Given the description of an element on the screen output the (x, y) to click on. 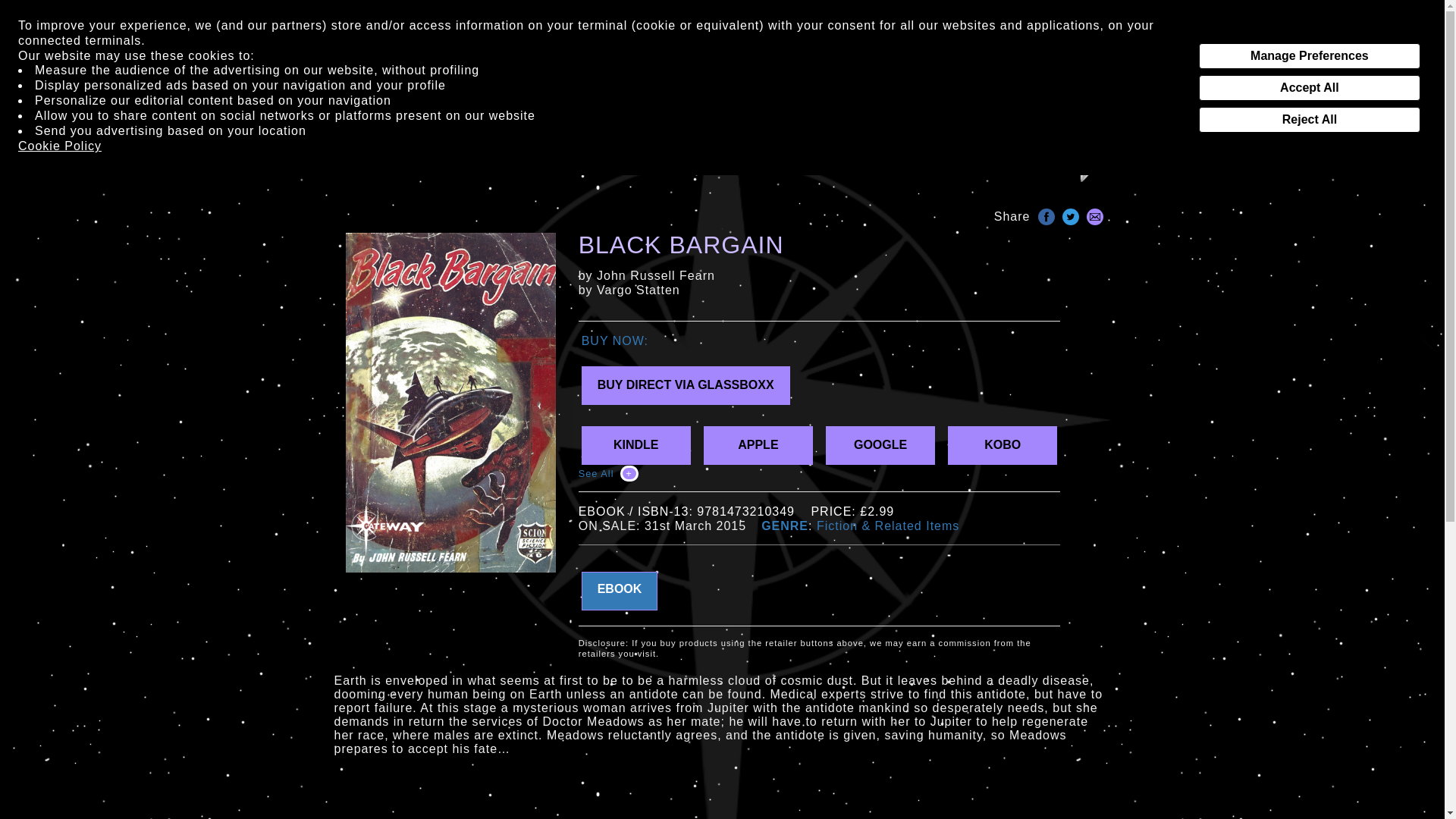
See All (608, 473)
KINDLE (635, 445)
SERIES (630, 156)
Reject All (1309, 119)
BOOKS (461, 156)
Manage Preferences (1309, 55)
KOBO (1002, 445)
APPLE (757, 445)
AUTHORS (554, 156)
ABOUT (882, 156)
BUY DIRECT VIA GLASSBOXX (685, 385)
Cookie Policy (59, 145)
GOOGLE (879, 445)
GOLLANCZ (813, 156)
HOME (376, 156)
